Given the description of an element on the screen output the (x, y) to click on. 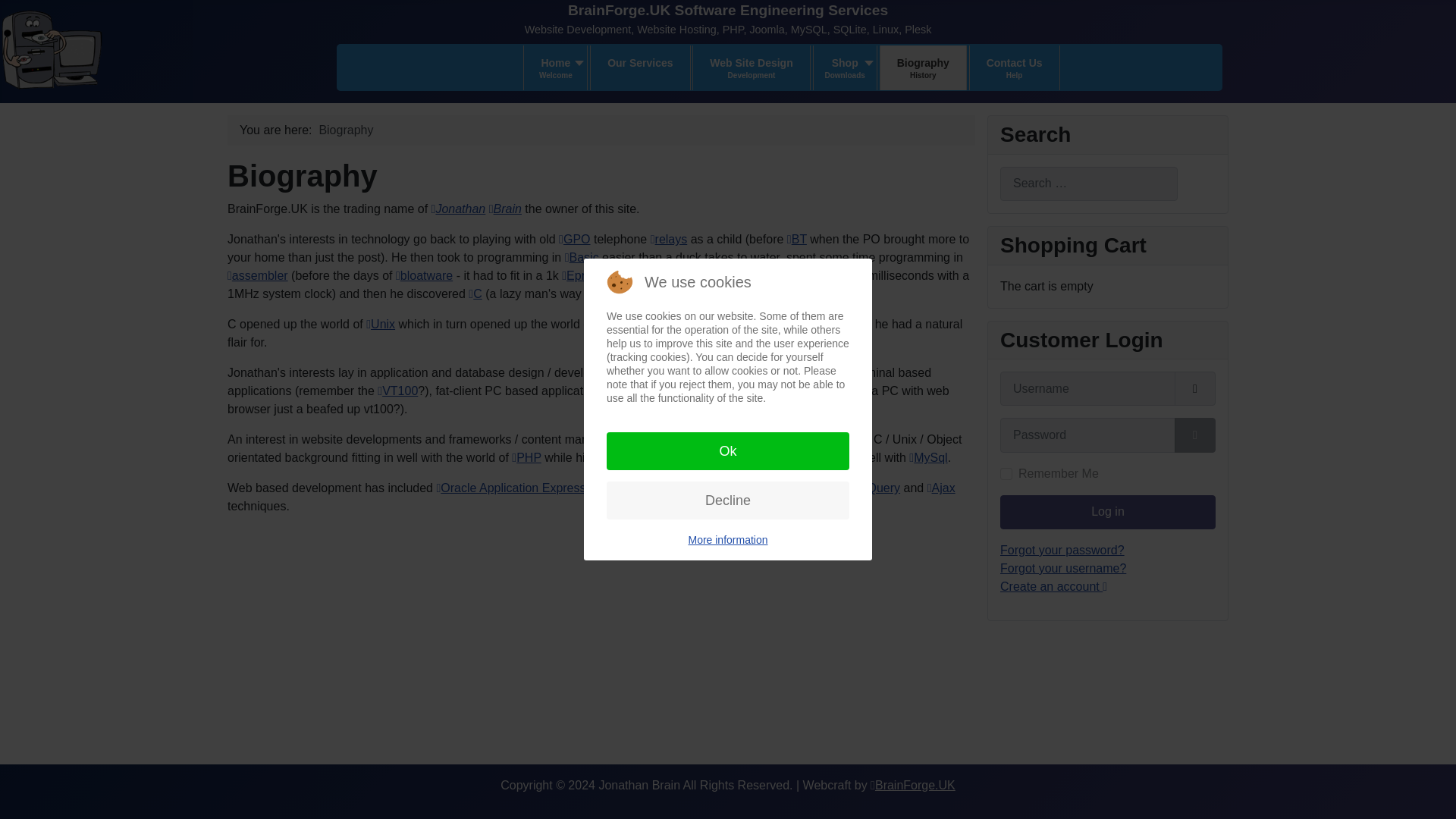
assembler (257, 275)
Username (1194, 388)
GPO (574, 238)
Oracle Application Express (510, 487)
Eprom (582, 275)
Write less do more. (878, 487)
Oracle (616, 323)
Java (751, 67)
bloatware (844, 67)
Joomla (705, 323)
JQuery (424, 275)
Create an account (751, 439)
